Given the description of an element on the screen output the (x, y) to click on. 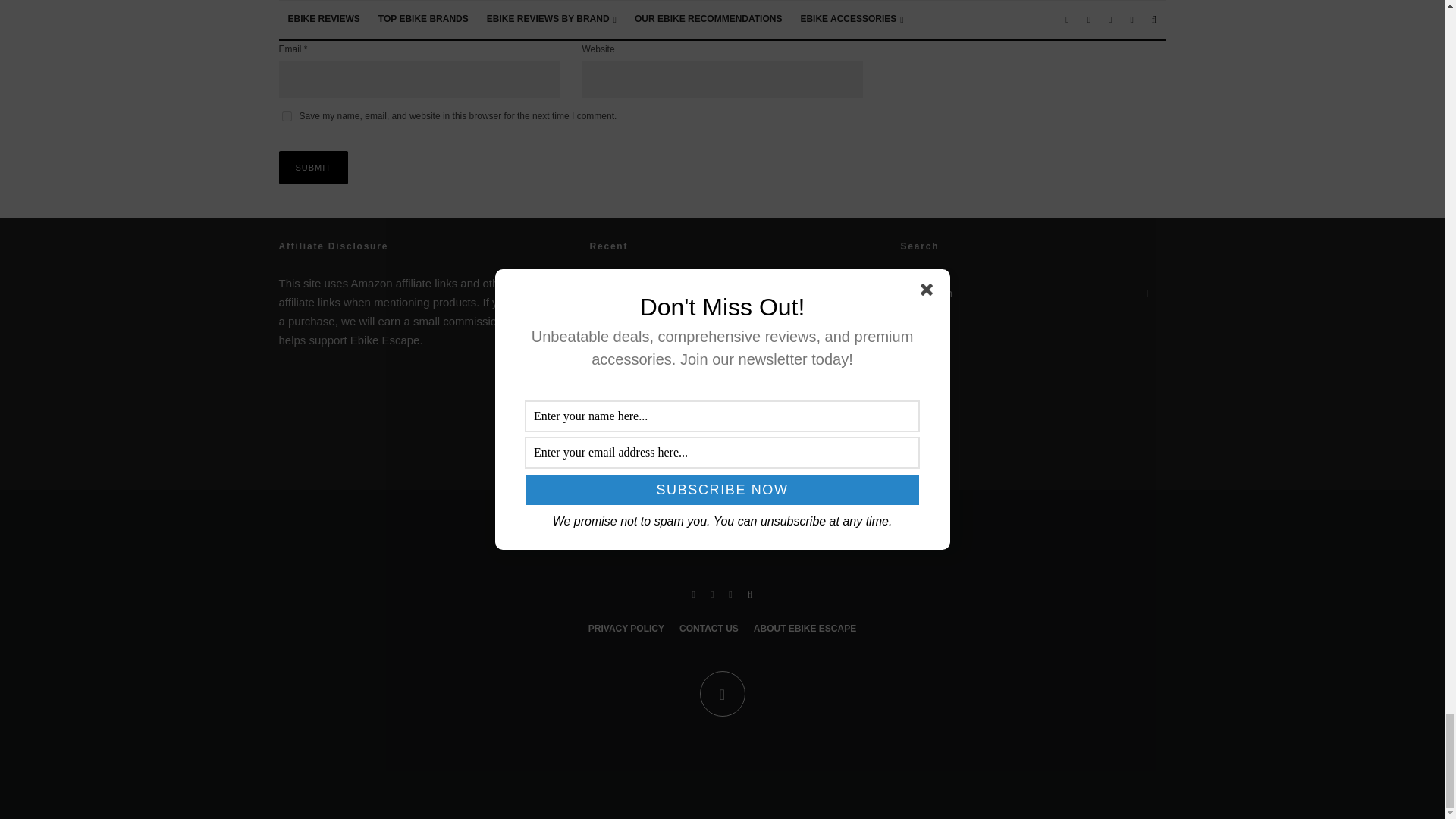
yes (287, 116)
Submit (314, 167)
